Given the description of an element on the screen output the (x, y) to click on. 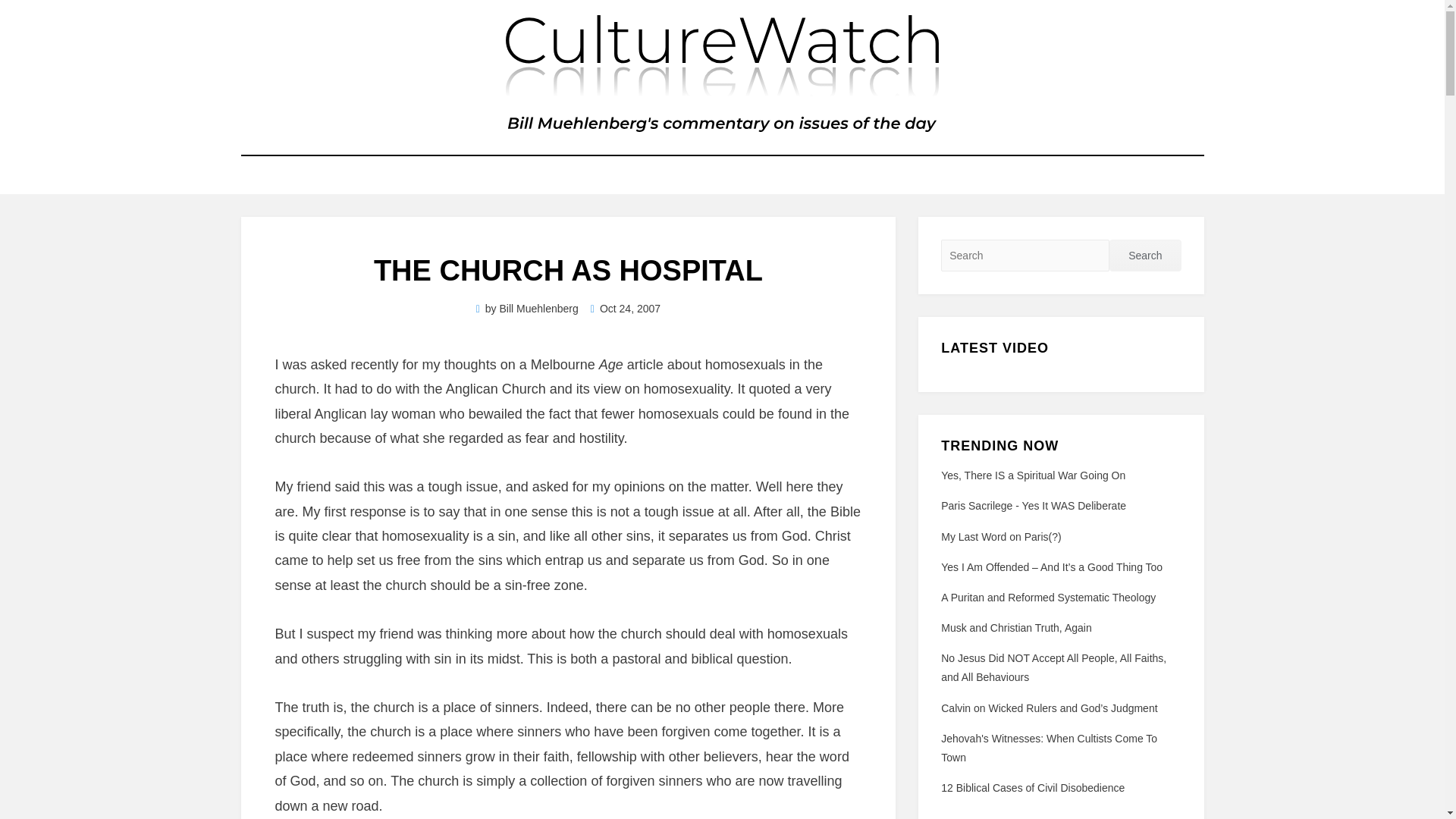
Bill Muehlenberg (538, 308)
Oct 24, 2007 (626, 308)
